Given the description of an element on the screen output the (x, y) to click on. 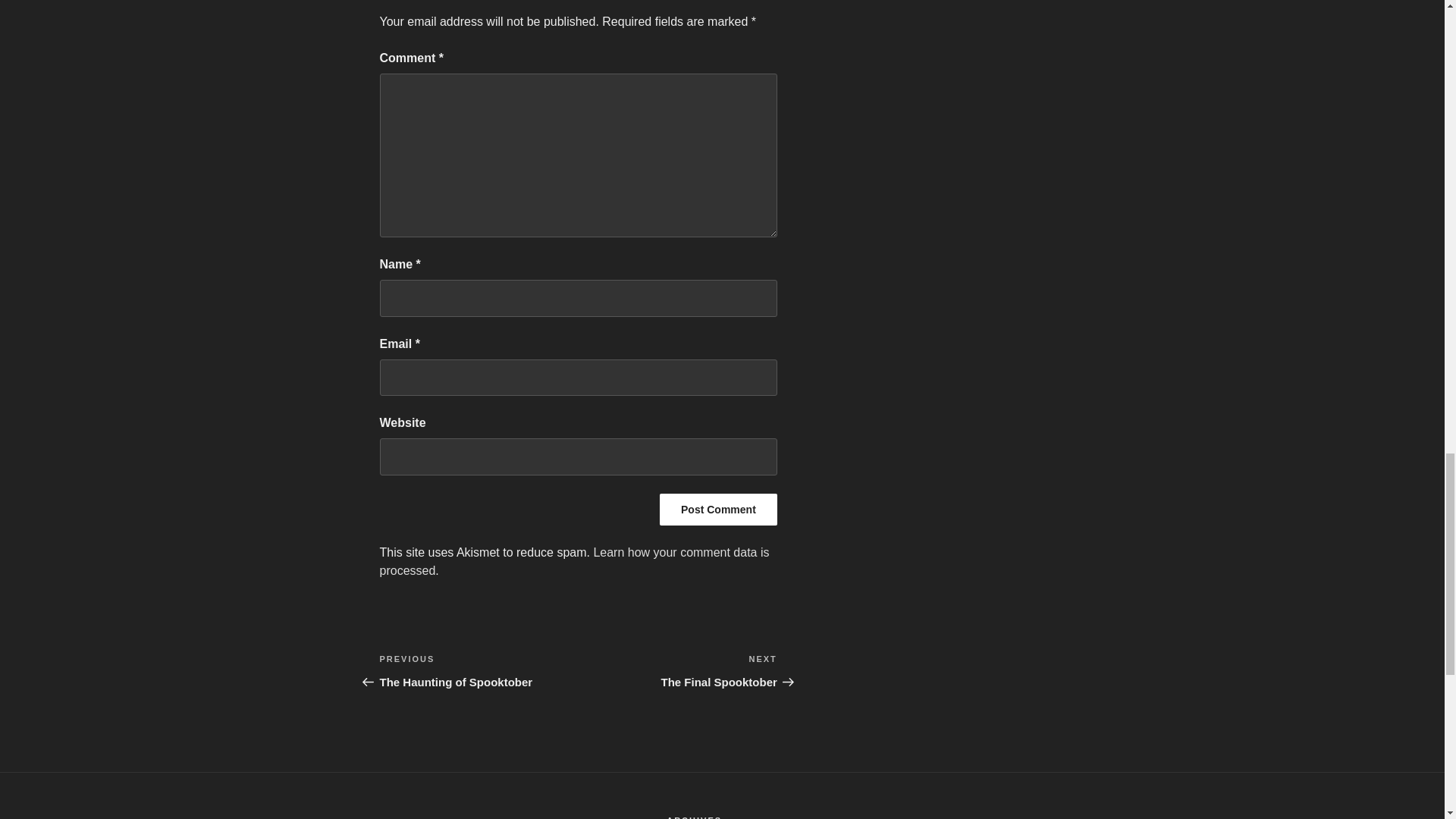
Post Comment (718, 509)
Post Comment (718, 509)
Learn how your comment data is processed (573, 561)
